Given the description of an element on the screen output the (x, y) to click on. 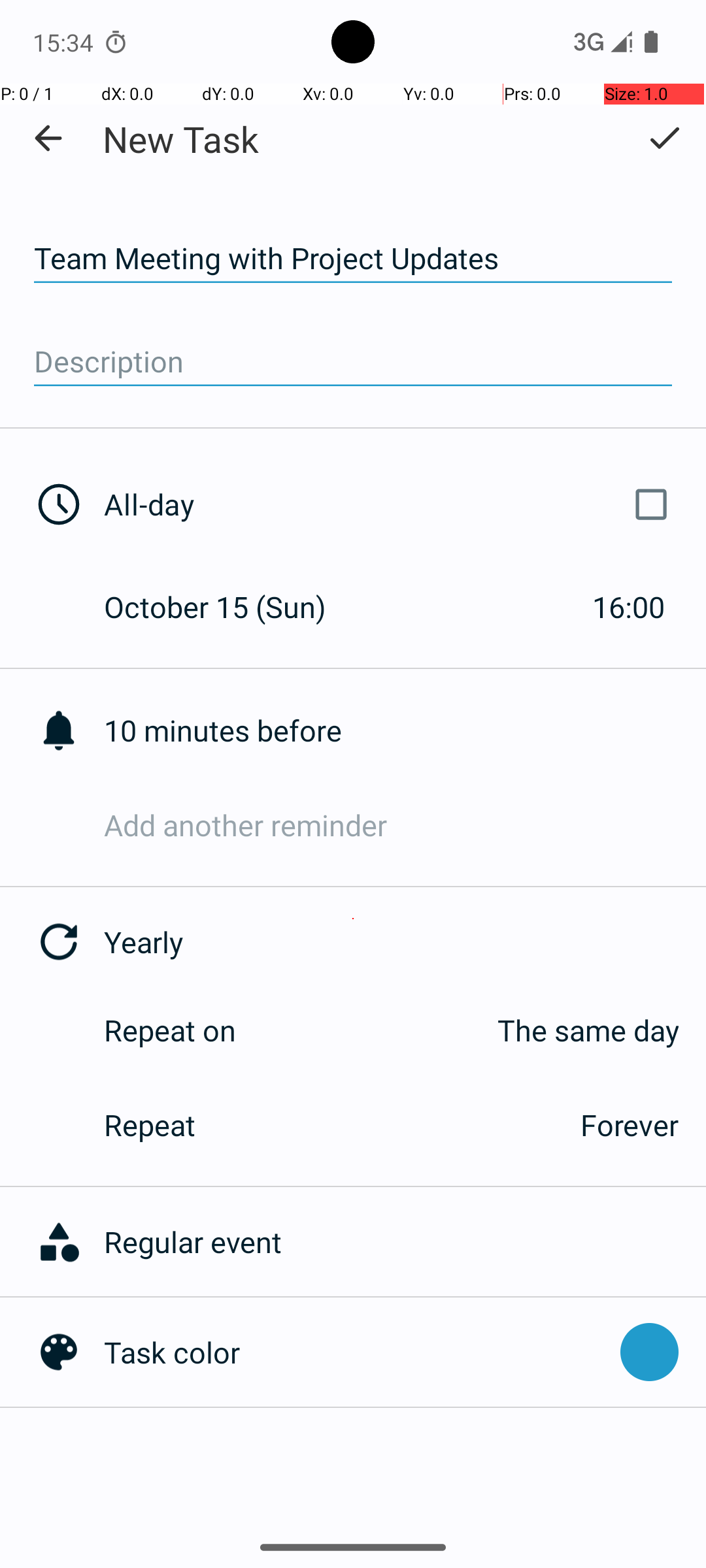
New Task Element type: android.widget.TextView (180, 138)
Team Meeting with Project Updates Element type: android.widget.EditText (352, 258)
Repeat on Element type: android.widget.TextView (169, 1029)
The same day Element type: android.widget.TextView (470, 1029)
Forever Element type: android.widget.TextView (629, 1124)
Task color Element type: android.widget.TextView (354, 1351)
